Given the description of an element on the screen output the (x, y) to click on. 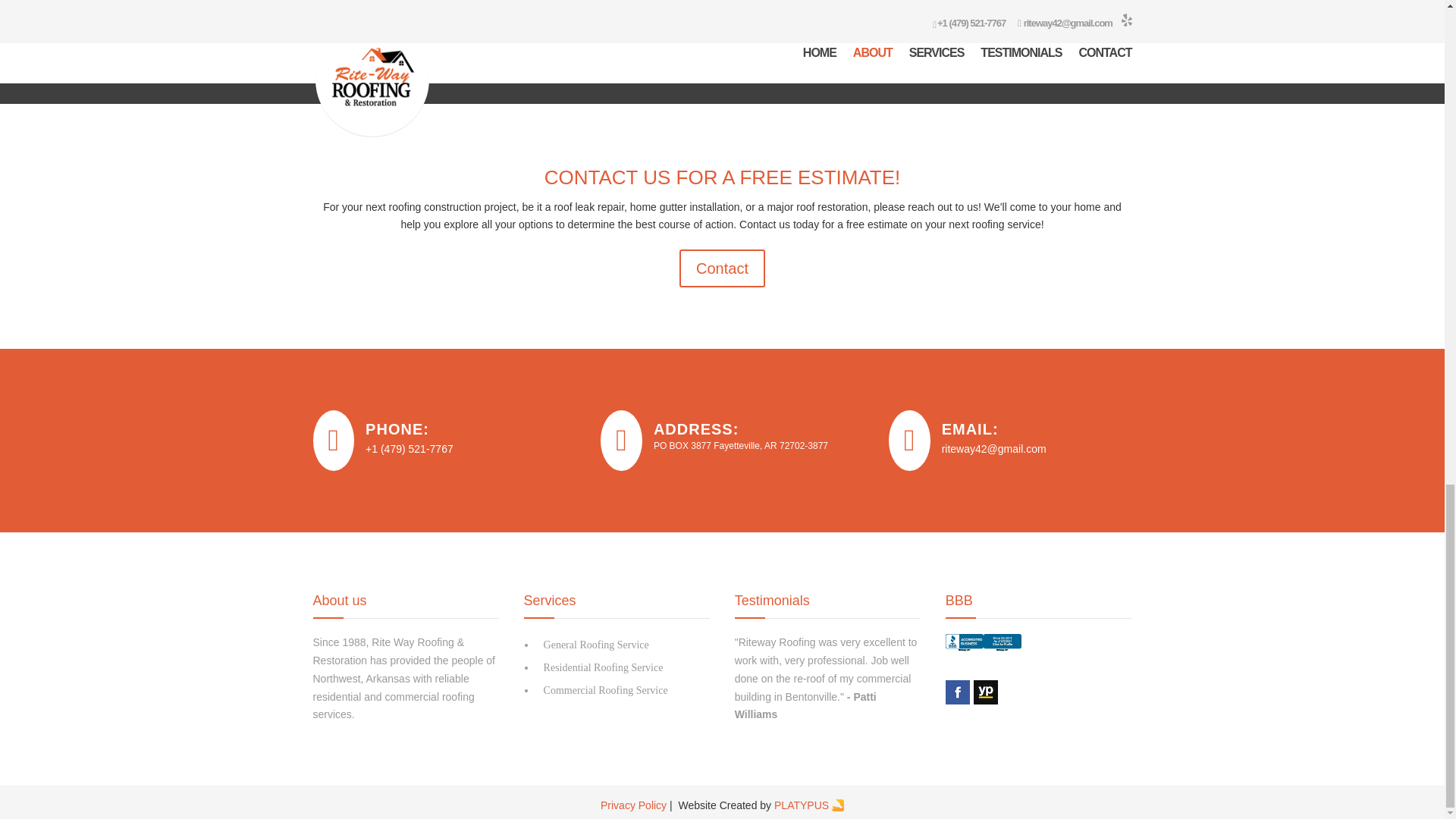
Contact (722, 268)
PLATYPUS (802, 805)
Privacy Policy (632, 805)
